Given the description of an element on the screen output the (x, y) to click on. 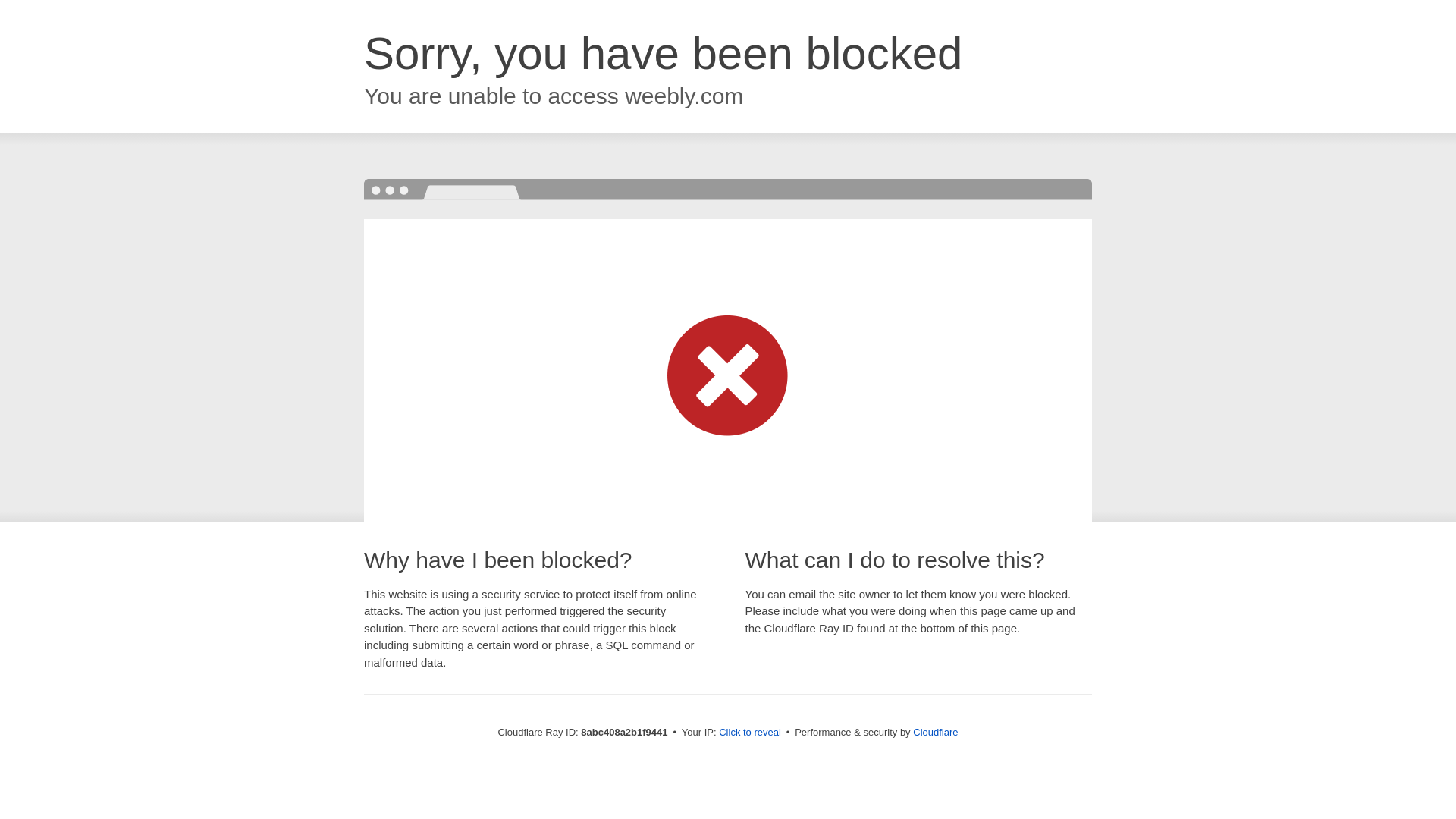
Cloudflare (935, 731)
Click to reveal (749, 732)
